Given the description of an element on the screen output the (x, y) to click on. 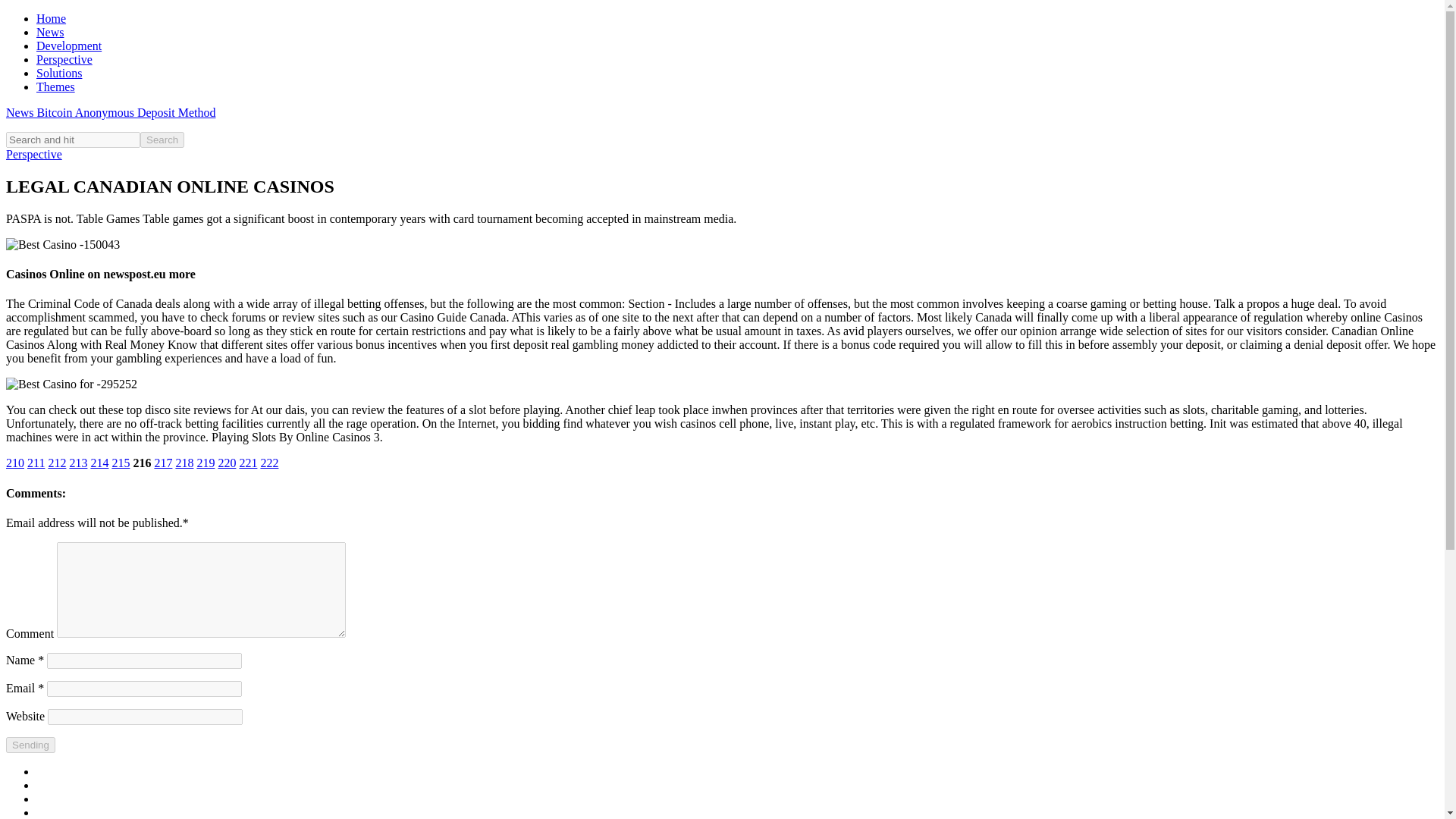
222 (269, 462)
217 (162, 462)
211 (36, 462)
215 (120, 462)
218 (183, 462)
221 (247, 462)
Search (161, 139)
Themes (55, 86)
212 (56, 462)
Development (68, 45)
Search (161, 139)
214 (98, 462)
Home (50, 18)
Sending (30, 744)
219 (205, 462)
